Given the description of an element on the screen output the (x, y) to click on. 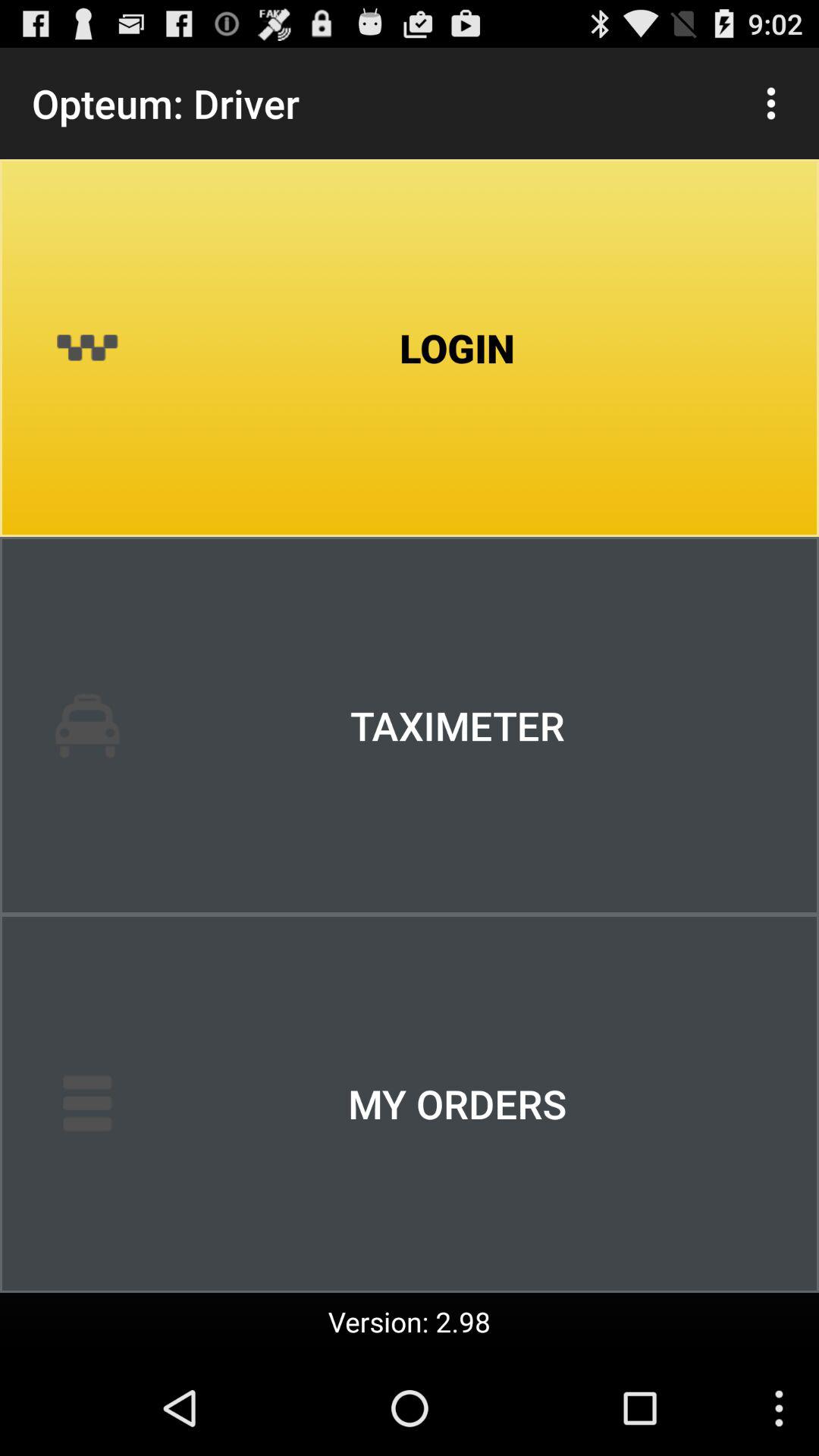
select item above the login icon (771, 103)
